Given the description of an element on the screen output the (x, y) to click on. 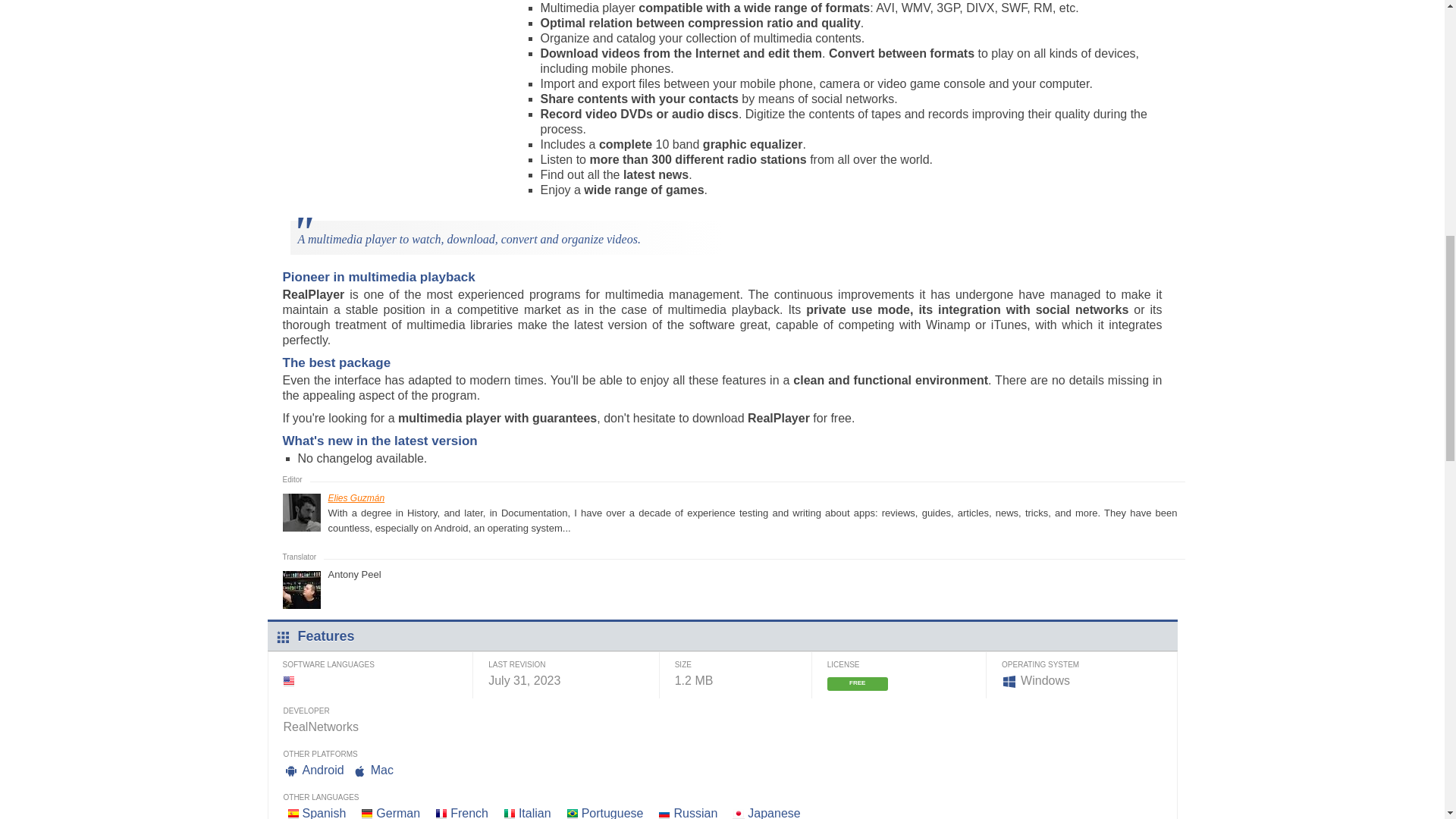
Mac (382, 769)
French (468, 812)
Japanese (773, 812)
Italian (534, 812)
Portuguese (611, 812)
German (397, 812)
Russian (694, 812)
Android (322, 769)
Spanish (323, 812)
